Given the description of an element on the screen output the (x, y) to click on. 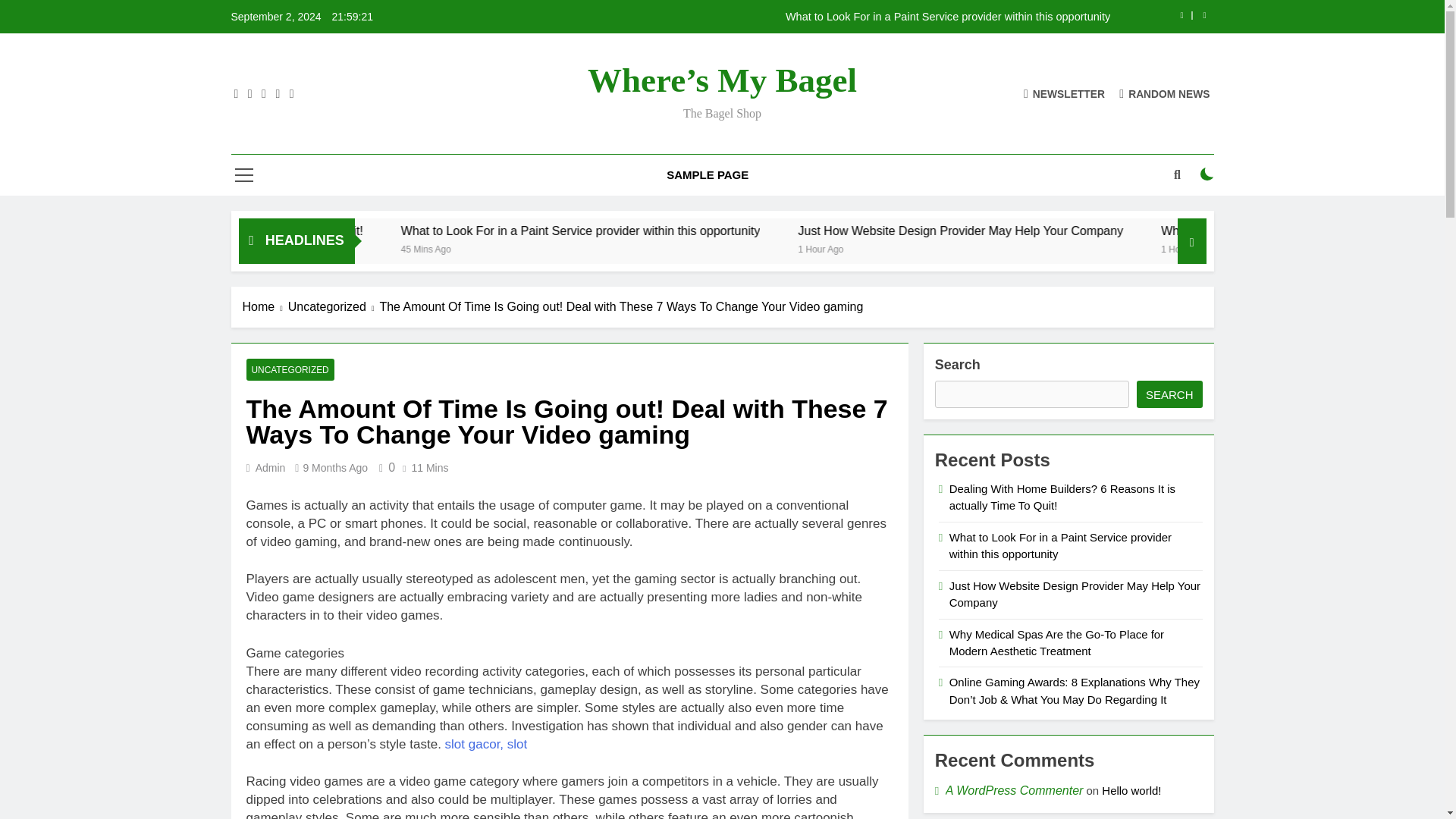
on (1206, 173)
1 Hour Ago (1064, 247)
SAMPLE PAGE (707, 174)
NEWSLETTER (1064, 92)
RANDOM NEWS (1164, 92)
Just How Website Design Provider May Help Your Company (1128, 230)
